Given the description of an element on the screen output the (x, y) to click on. 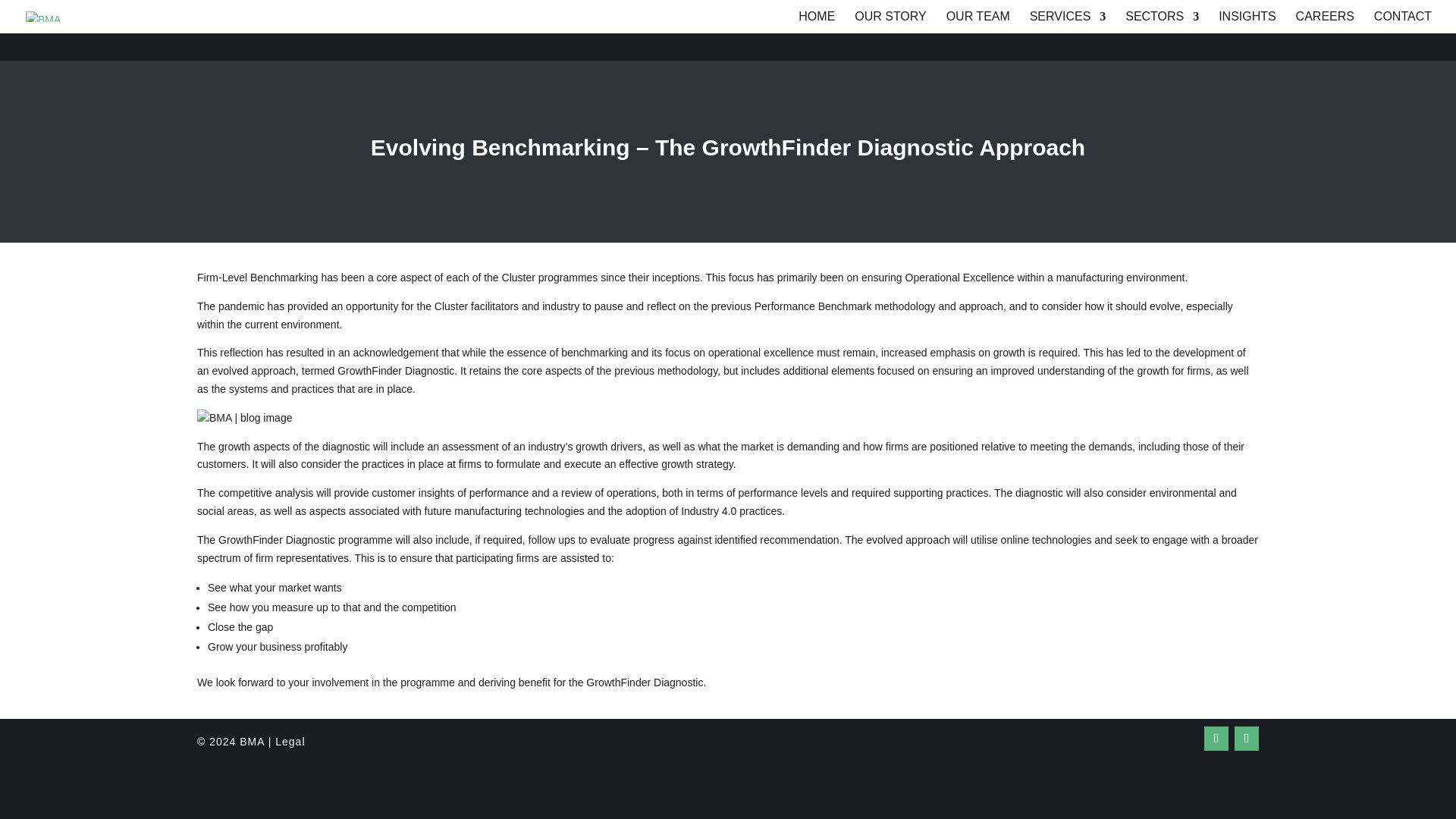
CONTACT (1402, 19)
OUR STORY (890, 19)
Follow on Facebook (1216, 738)
SERVICES (1067, 19)
SECTORS (1161, 19)
CAREERS (1324, 19)
Follow on LinkedIn (1246, 738)
OUR TEAM (978, 19)
HOME (815, 19)
Legal (289, 741)
